Given the description of an element on the screen output the (x, y) to click on. 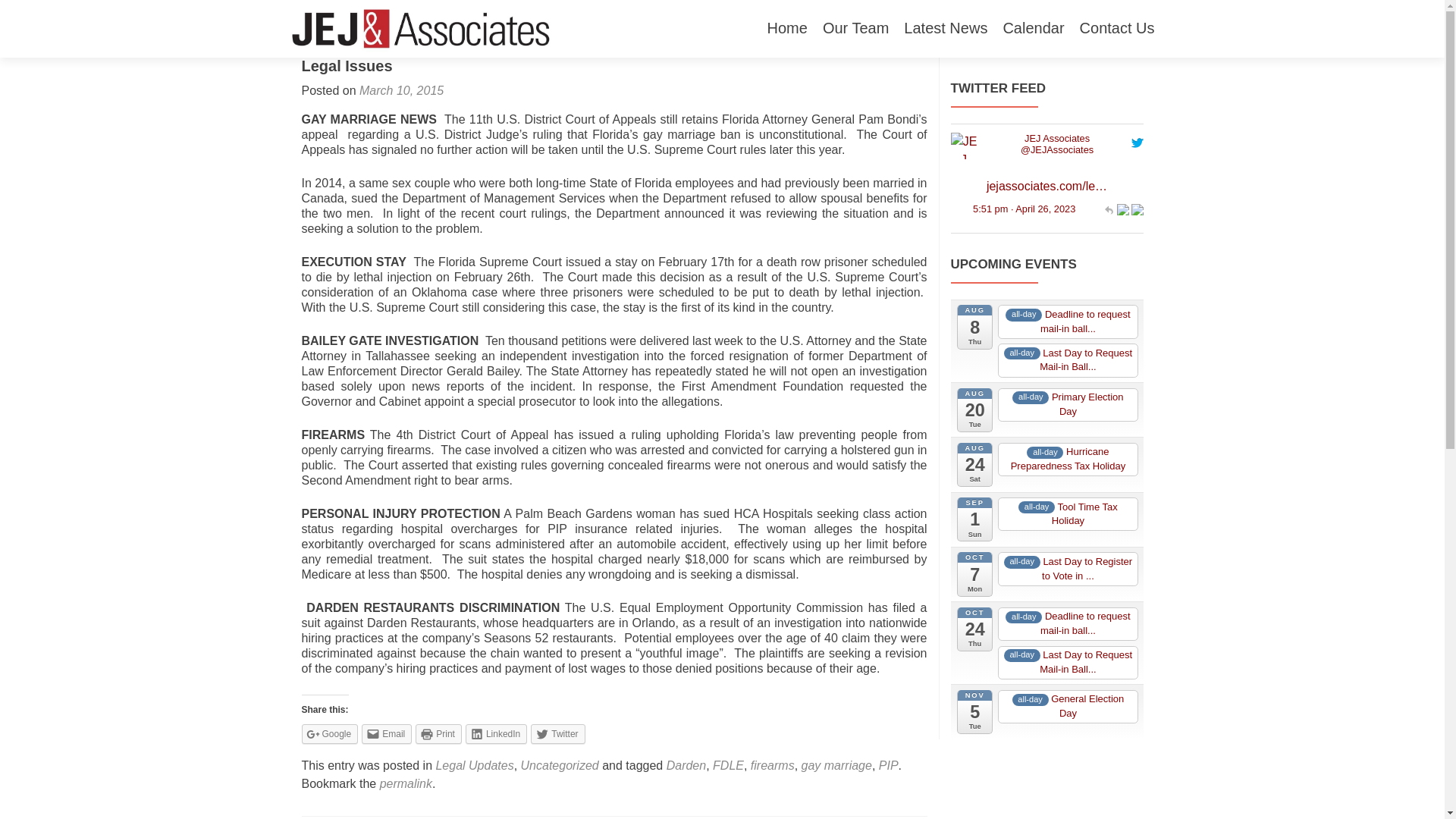
JEJ Associates (1056, 149)
gay marriage (837, 765)
PIP (888, 765)
Click to share on LinkedIn (496, 733)
Latest News (945, 28)
Click to email this to a friend (386, 733)
favorite (1136, 208)
Contact Us (1117, 28)
JEJ Associates (1057, 138)
Uncategorized (559, 765)
Twitter (558, 733)
Legal Updates (474, 765)
permalink (406, 783)
Home (787, 28)
Google (329, 733)
